Given the description of an element on the screen output the (x, y) to click on. 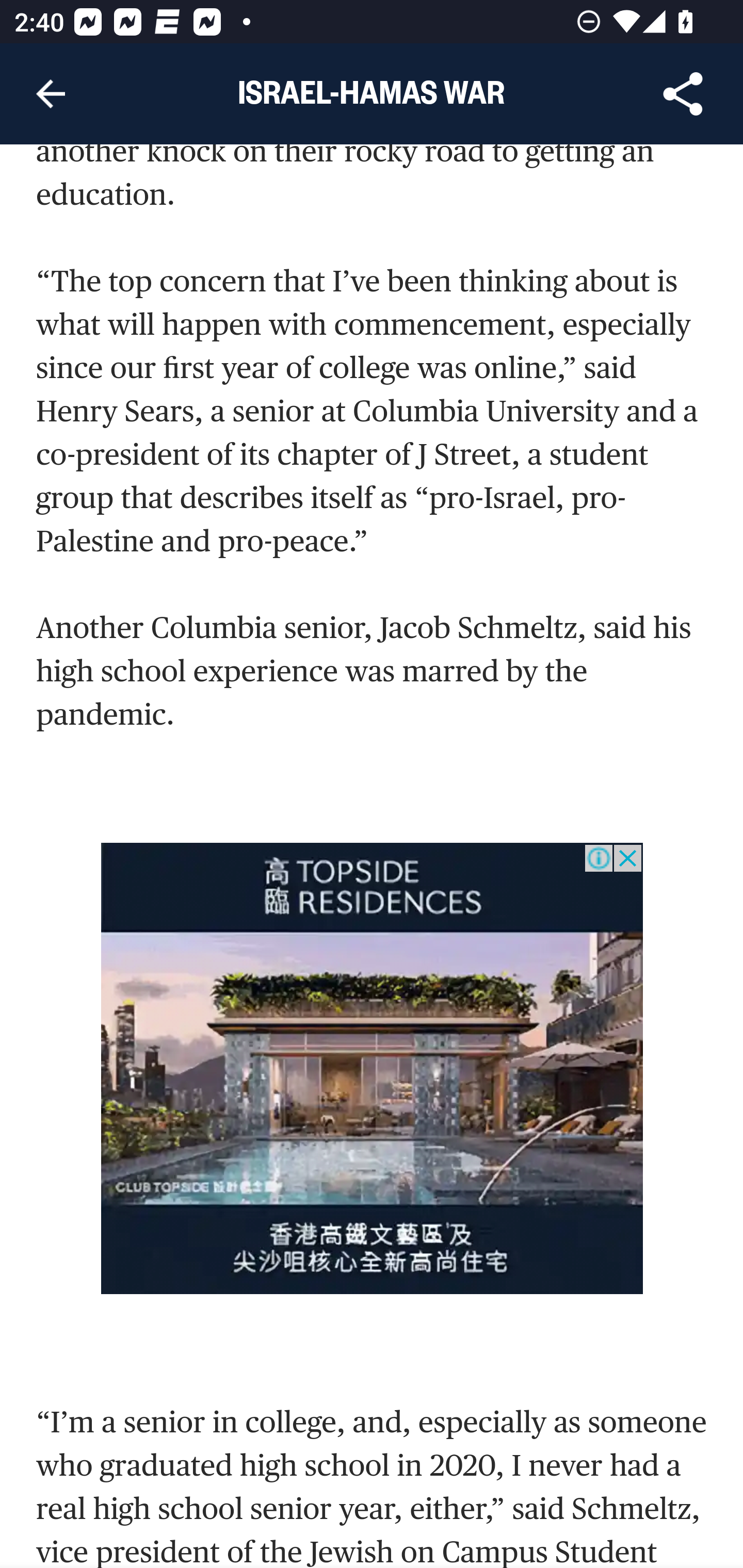
Navigate up (50, 93)
Share Article, button (683, 94)
